Given the description of an element on the screen output the (x, y) to click on. 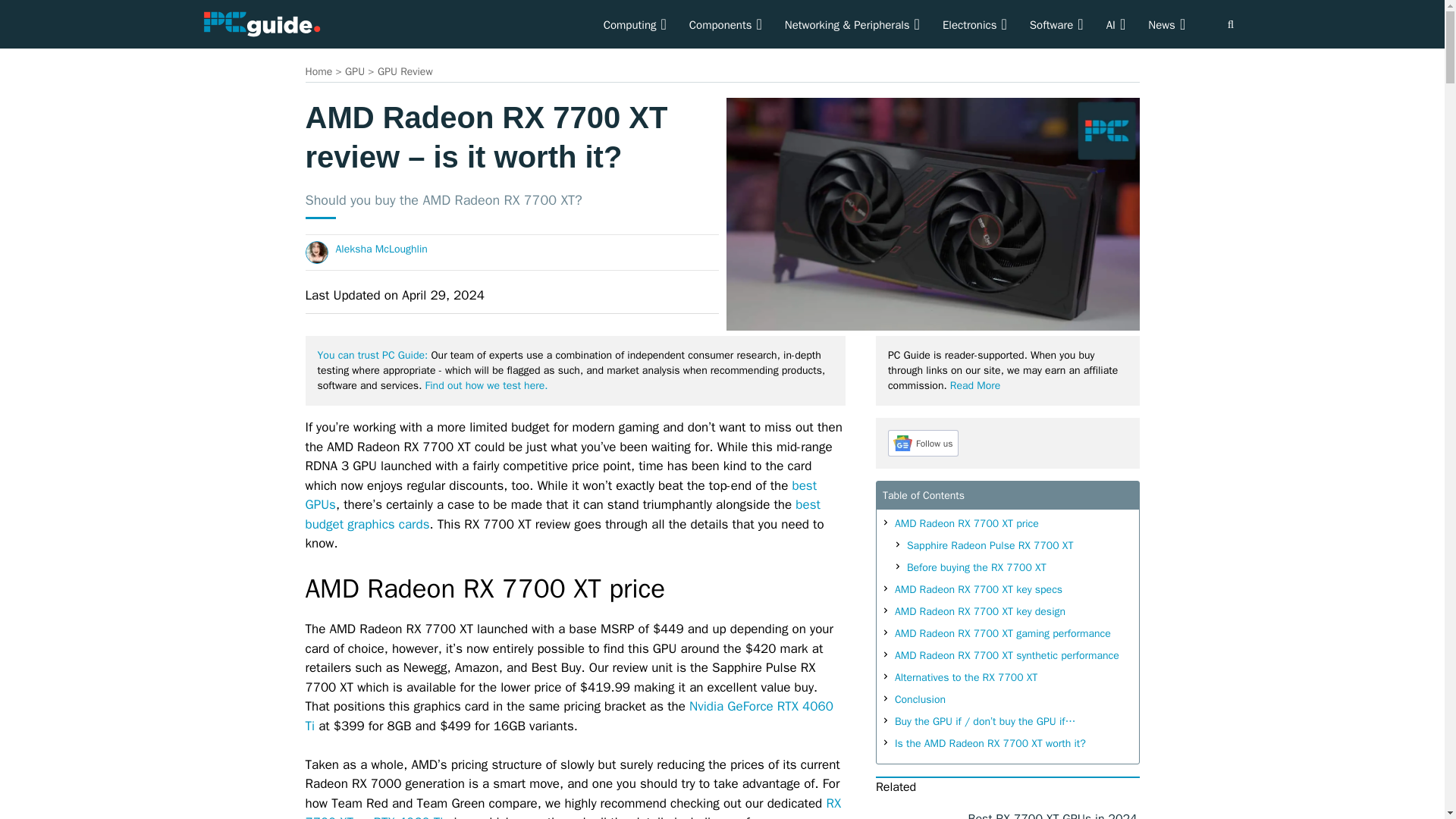
Computing (635, 23)
PC Guide (260, 23)
PC Guide (260, 23)
